Given the description of an element on the screen output the (x, y) to click on. 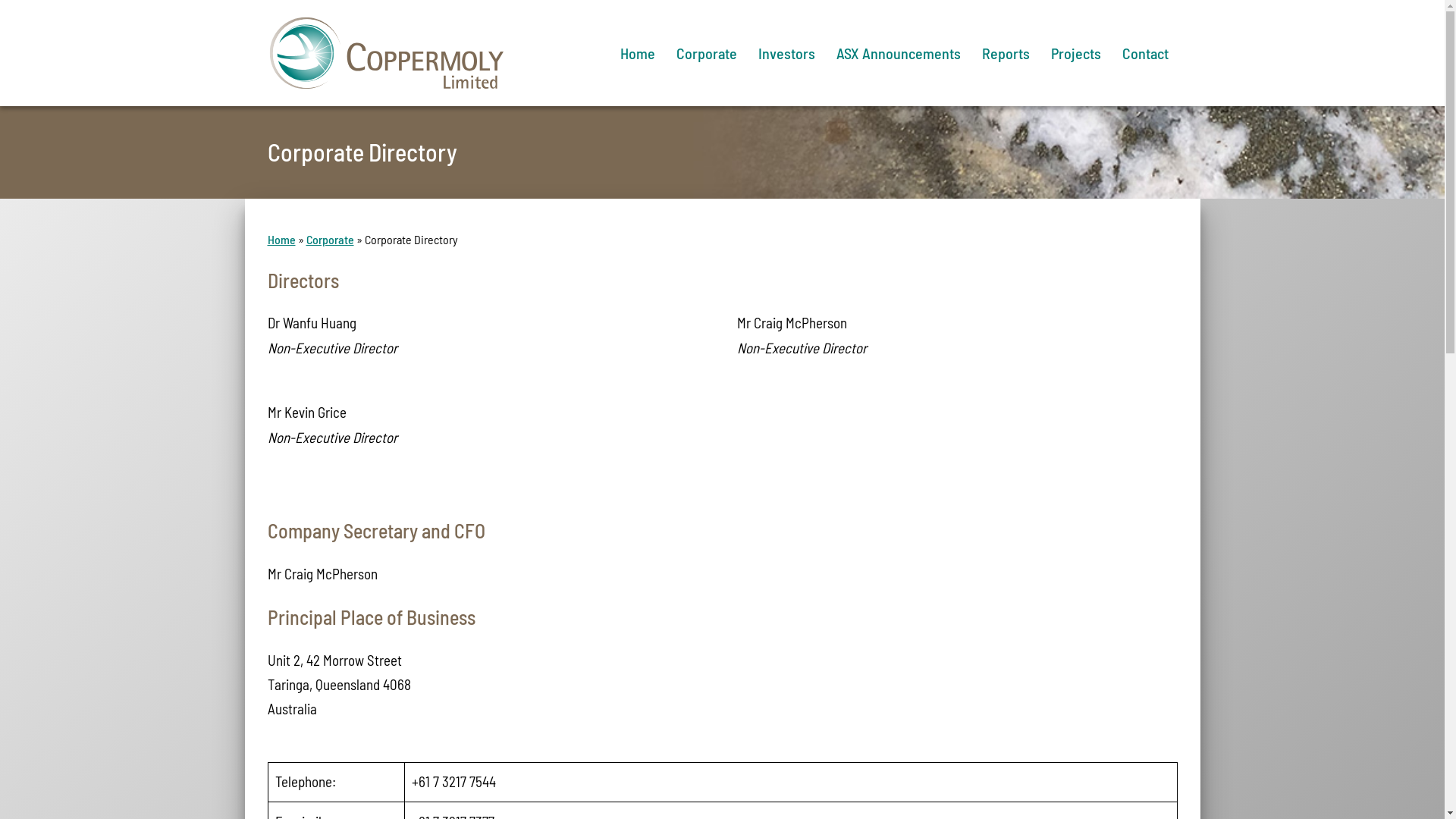
Corporate Element type: text (330, 239)
Reports Element type: text (1005, 53)
ASX Announcements Element type: text (897, 53)
Corporate Element type: text (706, 53)
Contact Element type: text (1145, 53)
Home Element type: text (637, 53)
Projects Element type: text (1075, 53)
Investors Element type: text (786, 53)
Home Element type: text (280, 239)
